Given the description of an element on the screen output the (x, y) to click on. 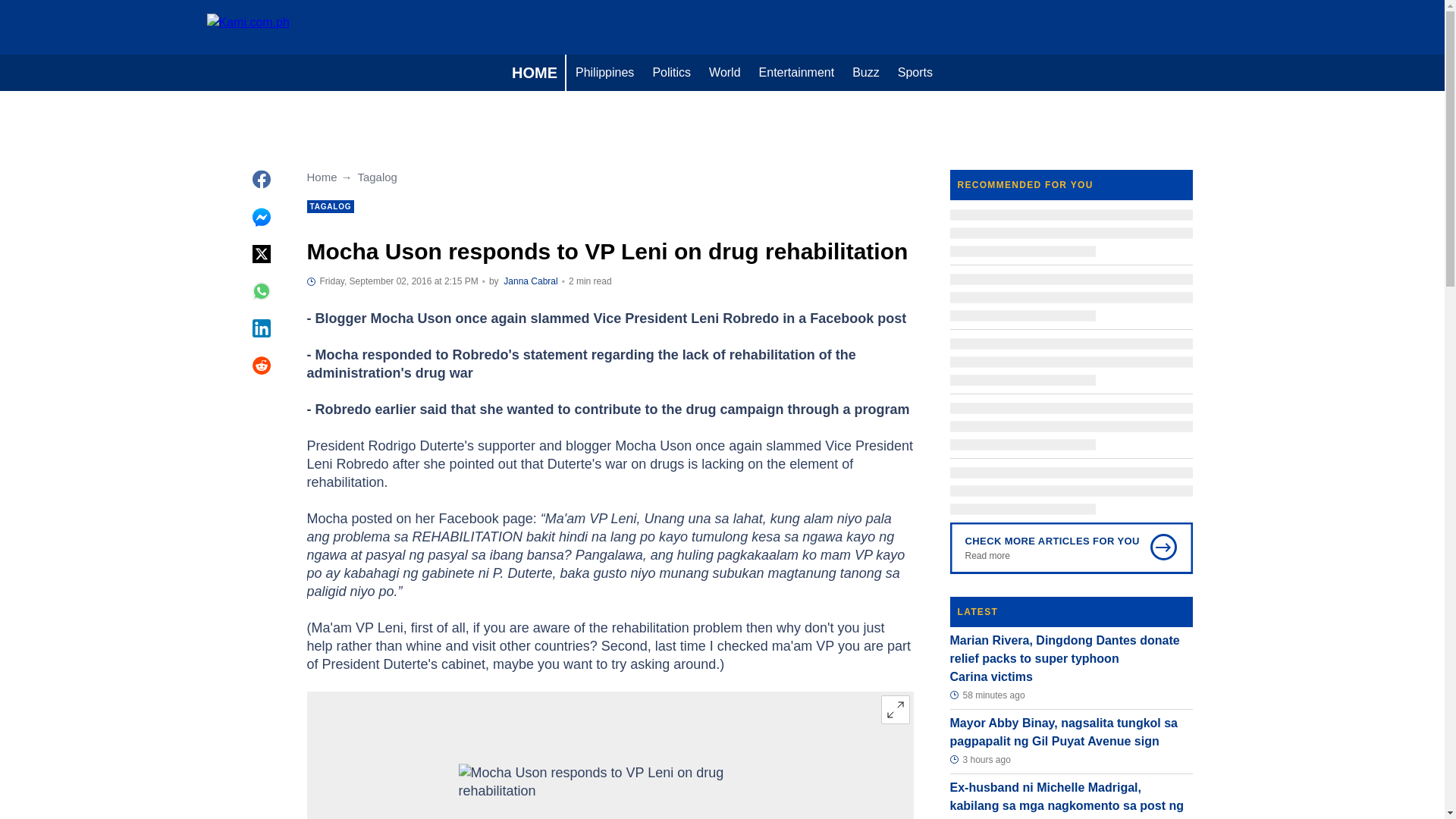
Author page (530, 281)
Sports (915, 72)
Mocha Uson responds to VP Leni on drug rehabilitation (609, 791)
Buzz (865, 72)
Expand image (895, 709)
World (724, 72)
Politics (671, 72)
Entertainment (796, 72)
HOME (534, 72)
Philippines (604, 72)
